Given the description of an element on the screen output the (x, y) to click on. 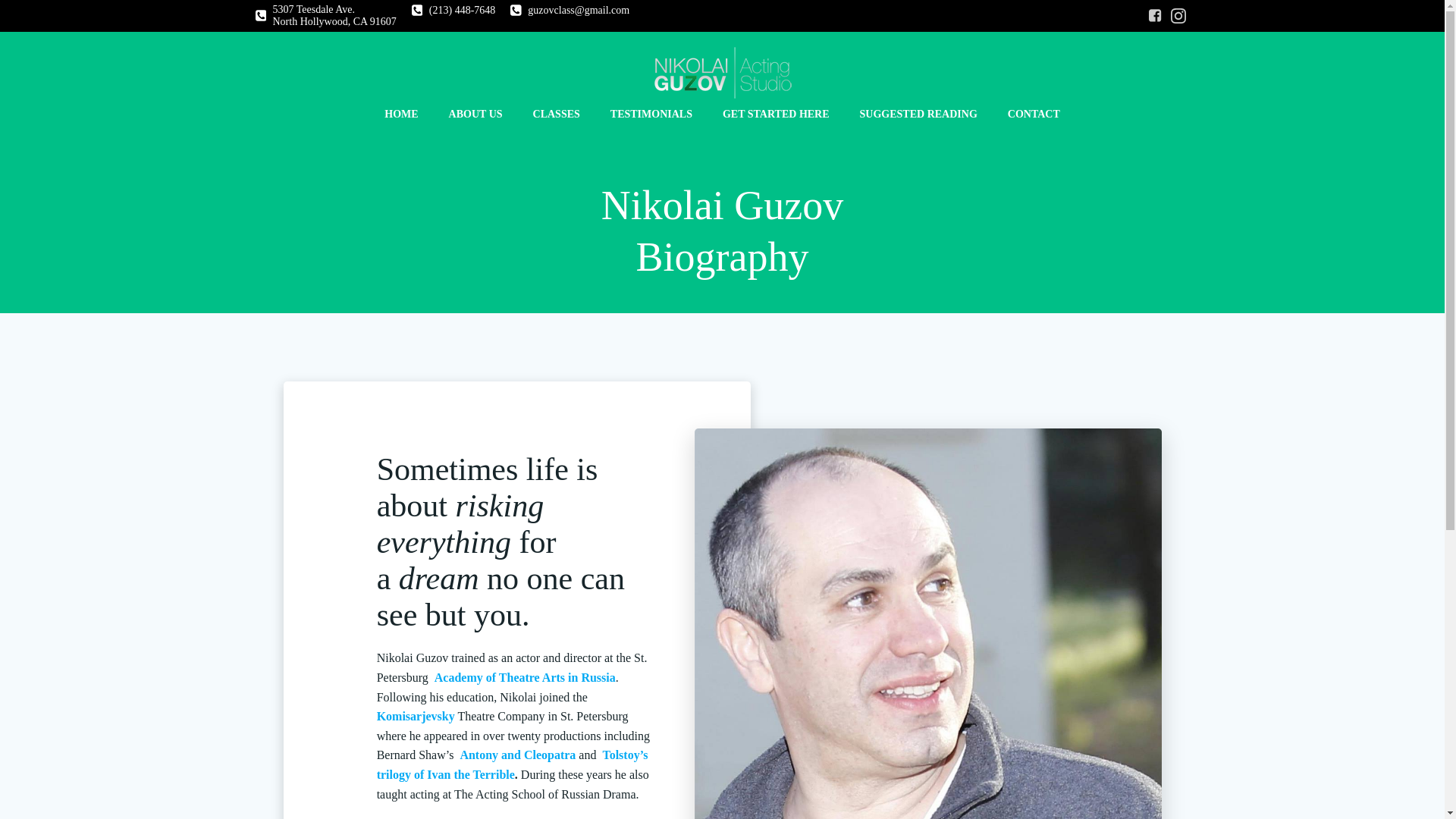
HOME (400, 114)
GET STARTED HERE (775, 114)
ABOUT US (475, 114)
CONTACT (1033, 114)
Antony and Cleopatra (517, 754)
CLASSES (555, 114)
SUGGESTED READING (918, 114)
Komisarjevsky (415, 716)
Academy of Theatre Arts in Russia (325, 15)
